Given the description of an element on the screen output the (x, y) to click on. 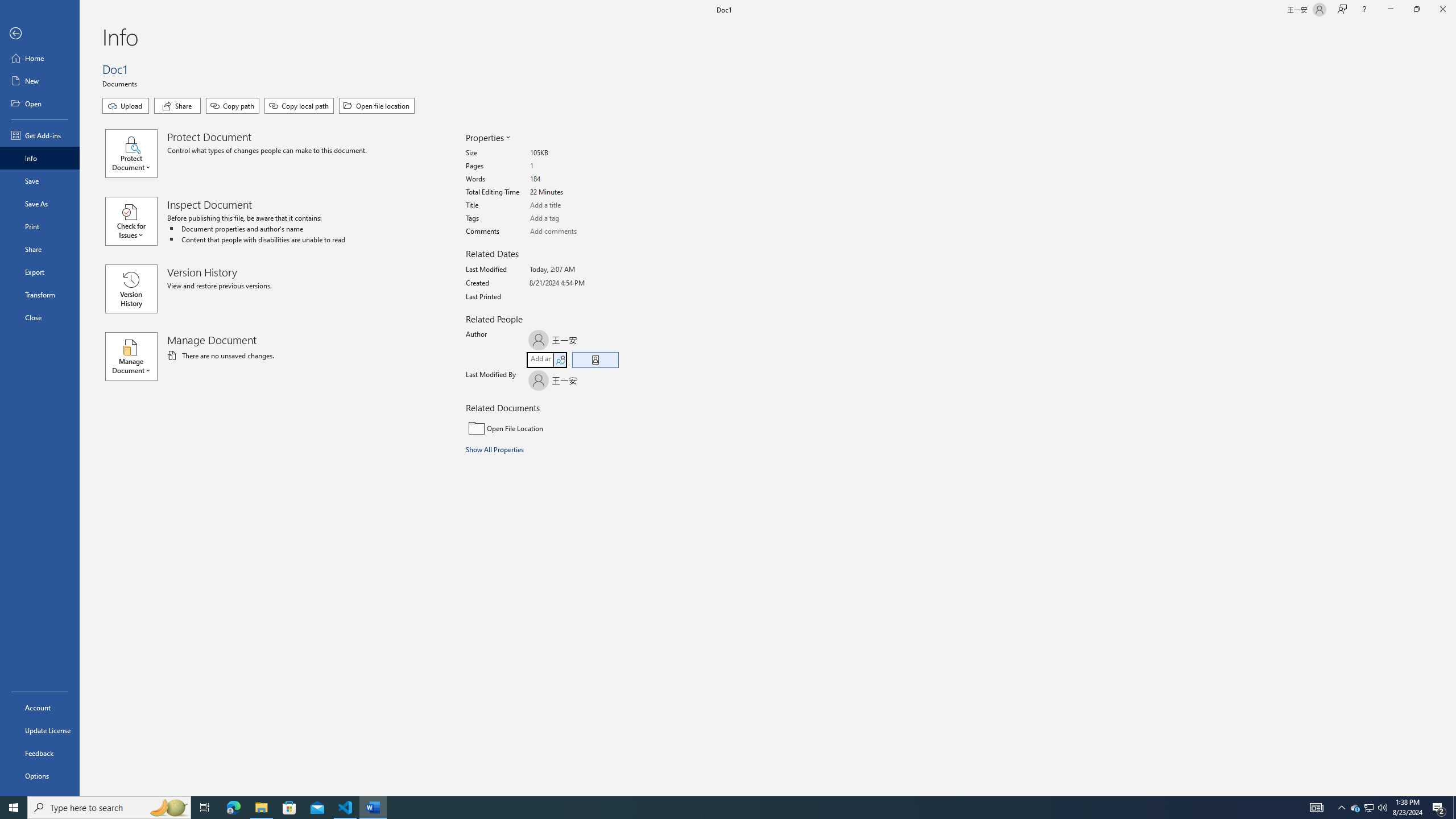
Properties (486, 137)
Open File Location (541, 427)
Account (40, 707)
Save As (40, 203)
Title (572, 205)
Back (40, 33)
Pages (572, 166)
Version History (130, 288)
Open (40, 102)
Options (40, 775)
Update License (40, 730)
